Given the description of an element on the screen output the (x, y) to click on. 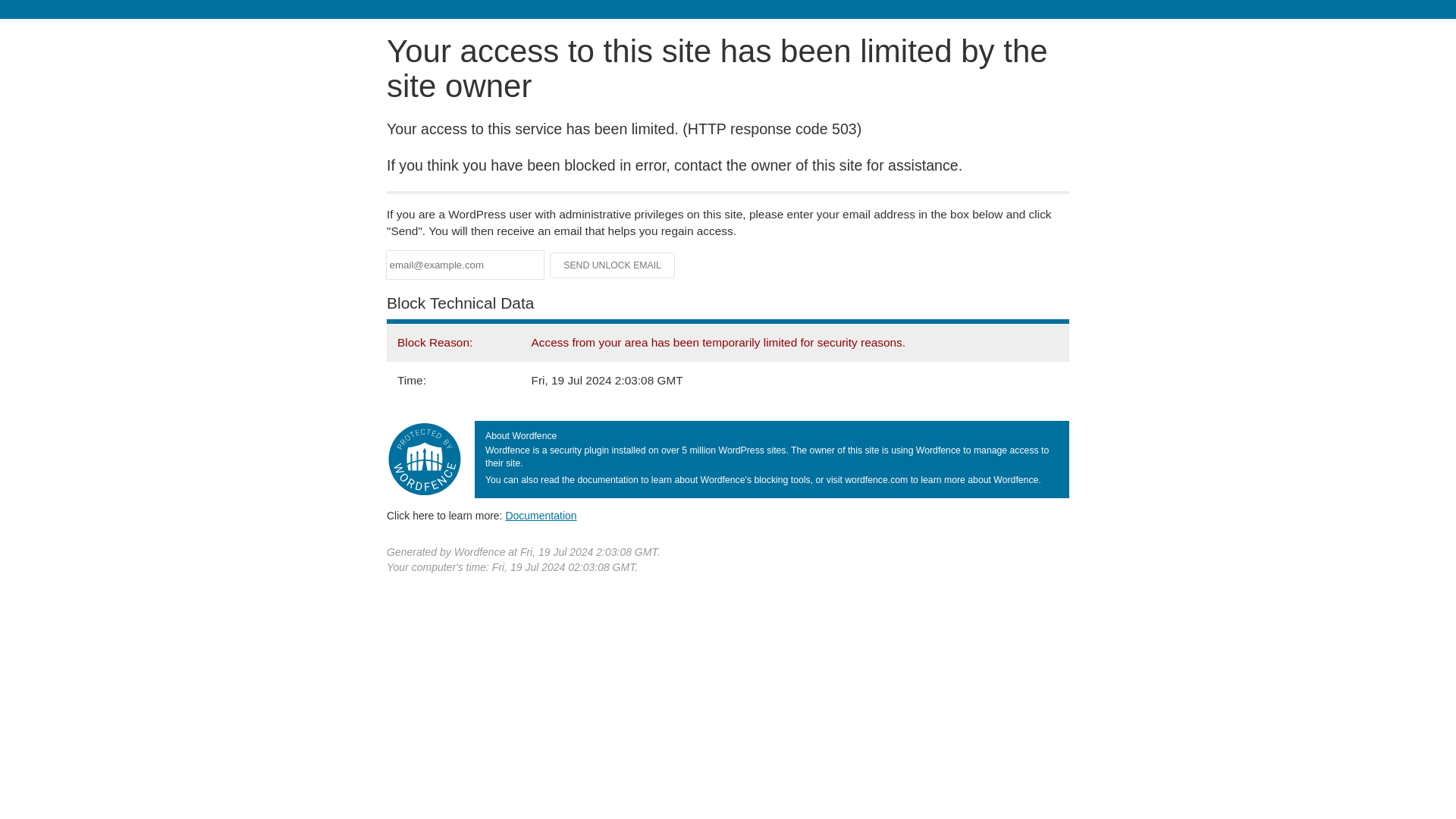
Documentation (540, 515)
Send Unlock Email (612, 265)
Send Unlock Email (612, 265)
